Given the description of an element on the screen output the (x, y) to click on. 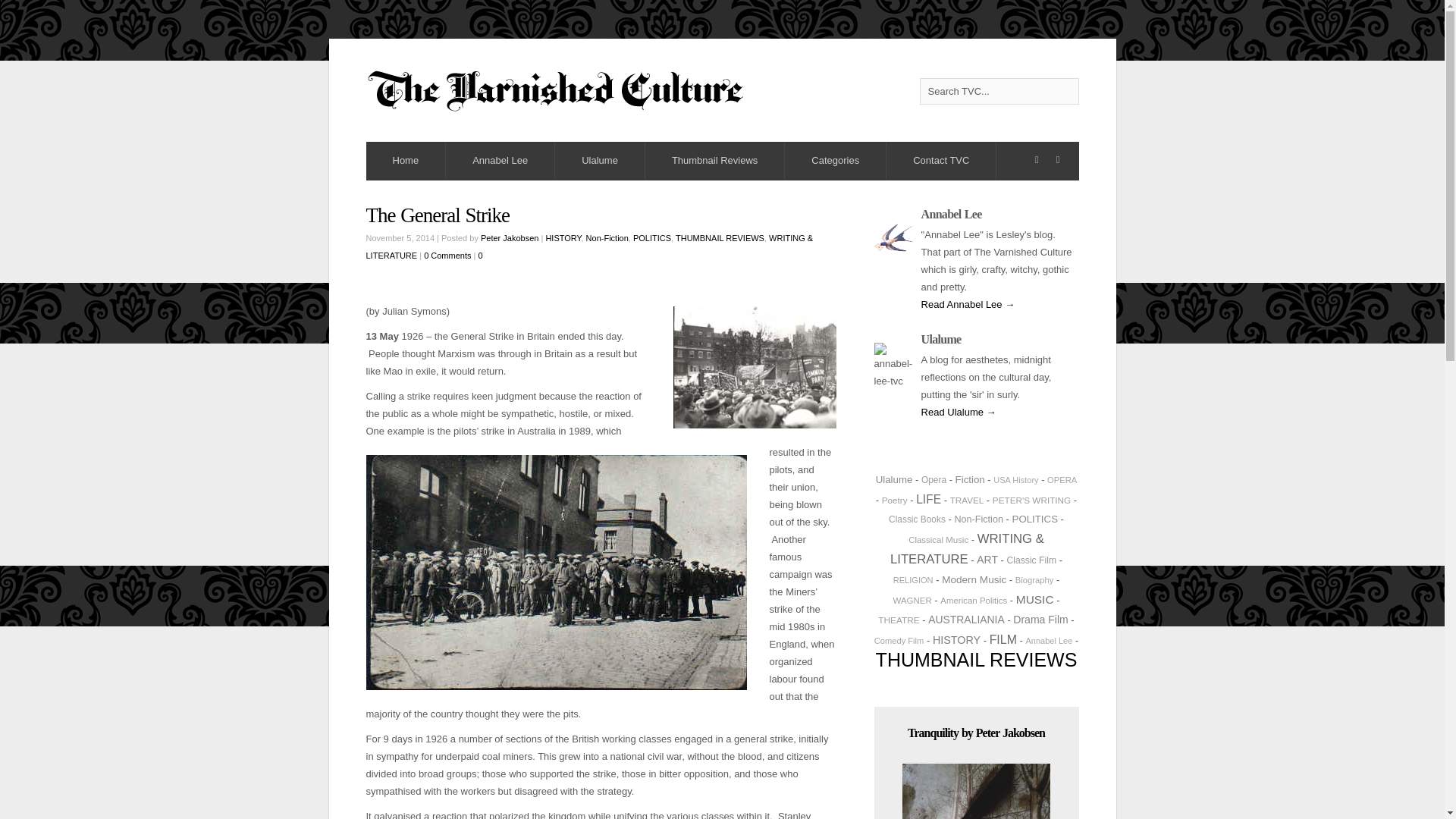
89 posts (916, 519)
283 posts (927, 499)
51 posts (1061, 479)
Home (405, 160)
Non-Fiction (607, 237)
79 posts (894, 500)
41 posts (1015, 479)
127 posts (978, 519)
0 Comments (448, 255)
341 posts (966, 548)
Like this (479, 255)
Search TVC... (998, 90)
Thumbnail Reviews (714, 160)
Ulalume (894, 479)
89 posts (933, 480)
